Given the description of an element on the screen output the (x, y) to click on. 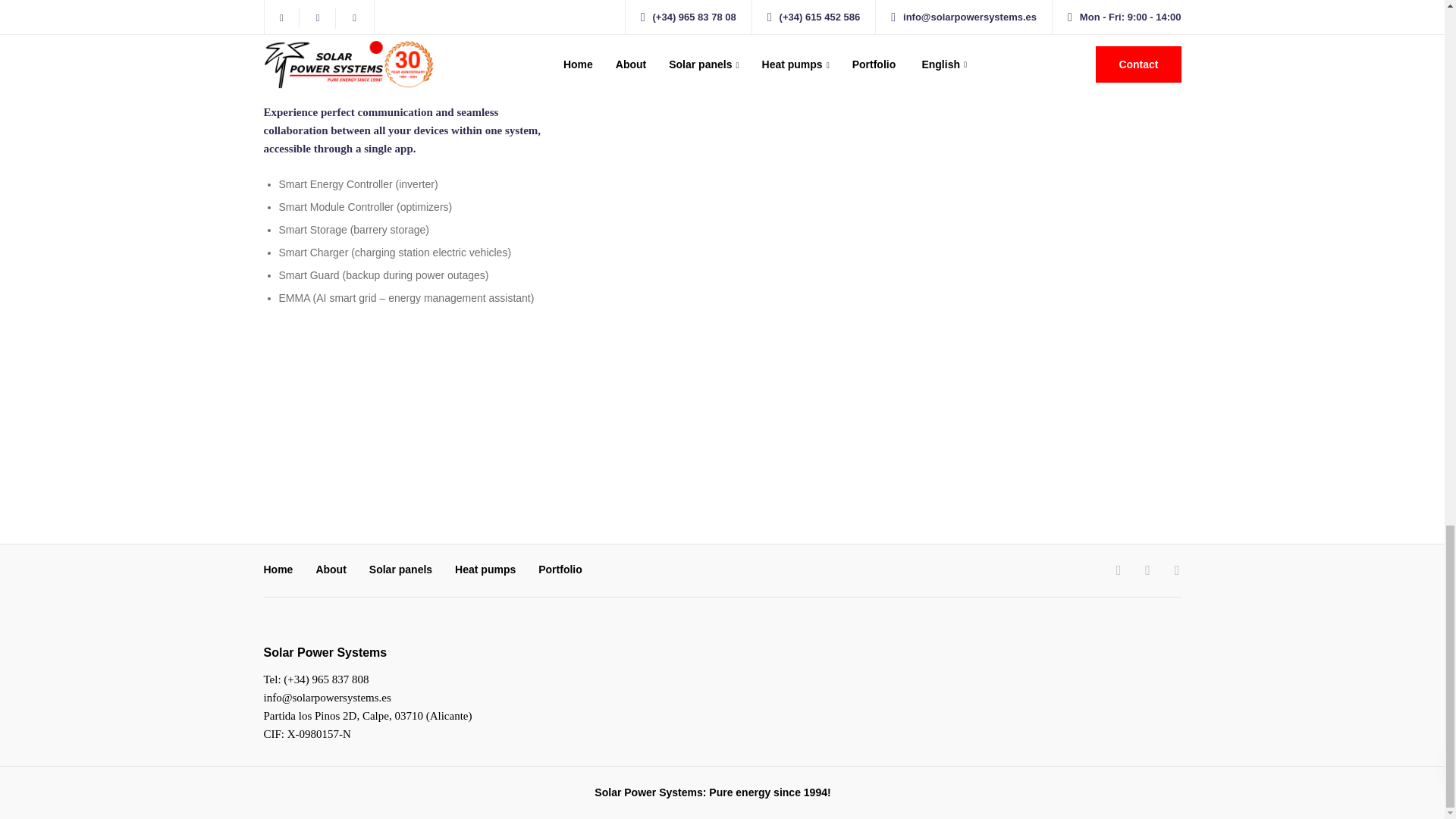
Portfolio (560, 571)
About (330, 571)
Heat pumps (484, 571)
Home (278, 571)
Solar panels (400, 571)
